Given the description of an element on the screen output the (x, y) to click on. 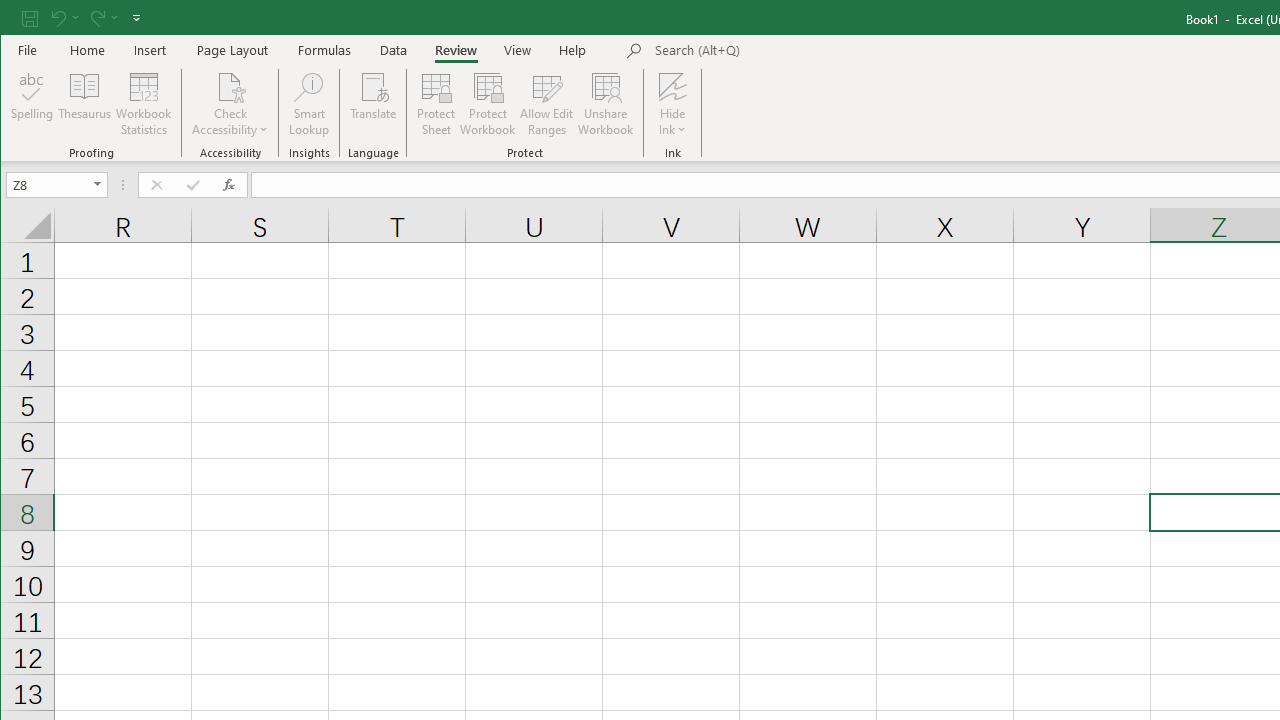
Smart Lookup (308, 104)
Hide Ink (672, 86)
Thesaurus... (84, 104)
